Given the description of an element on the screen output the (x, y) to click on. 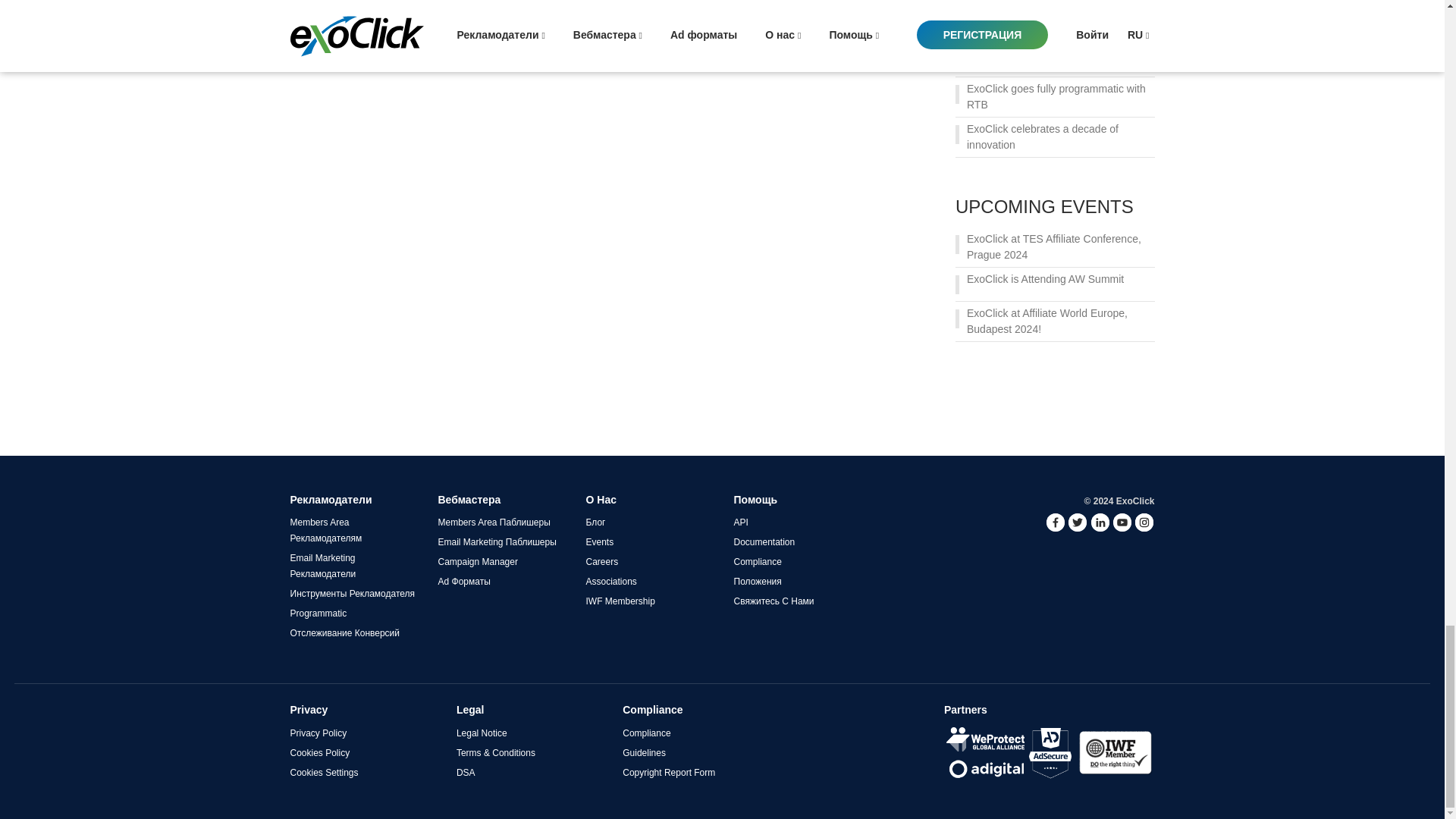
LinkedIn (1099, 522)
Youtube (1122, 522)
Facebook (1055, 522)
Twitter (1077, 522)
Instagram (1144, 522)
